Given the description of an element on the screen output the (x, y) to click on. 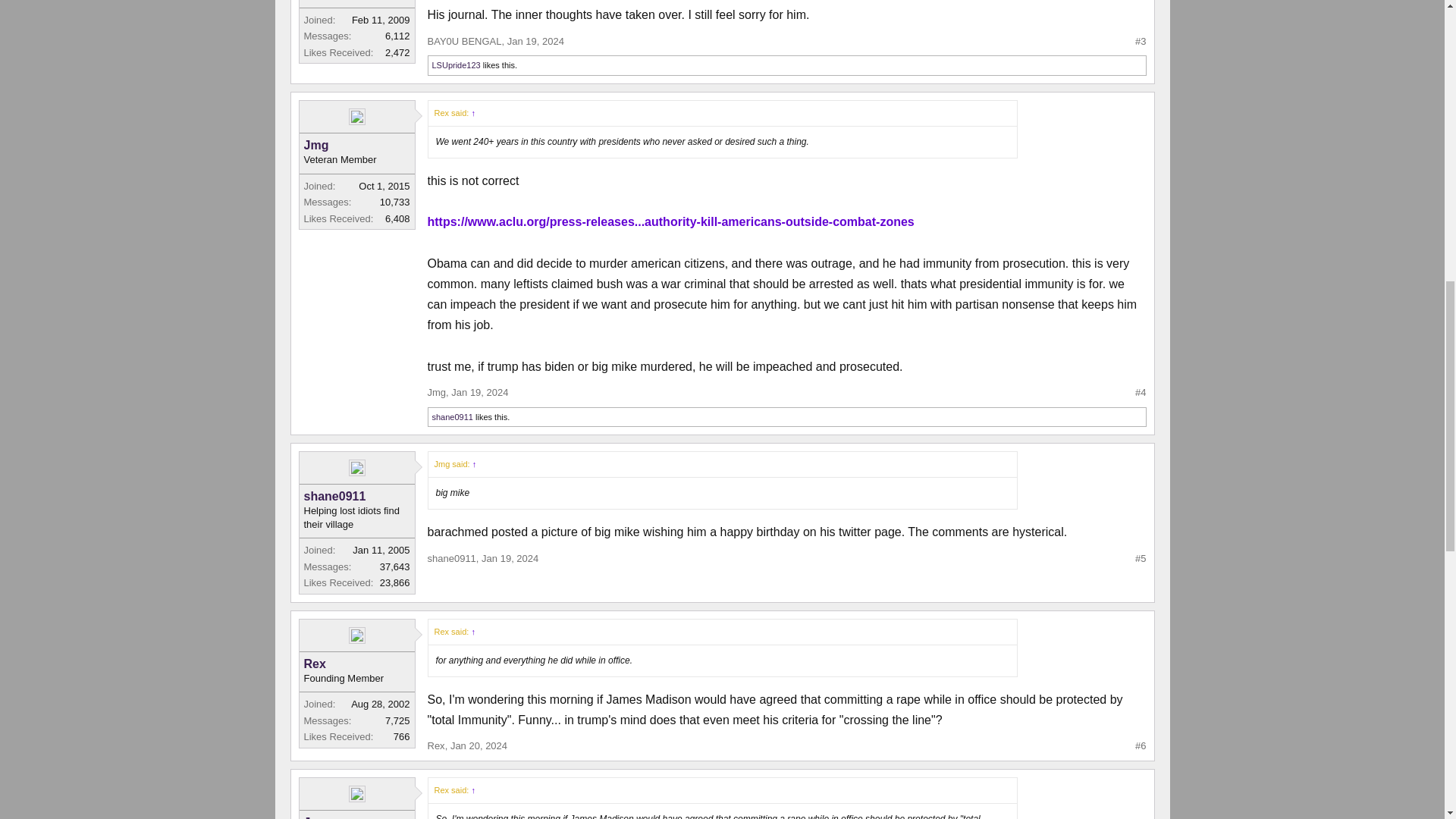
Jmg (437, 392)
BAY0U BENGAL (465, 41)
6,112 (397, 35)
Permalink (477, 745)
Jmg (355, 145)
10,733 (395, 202)
Permalink (535, 41)
Jan 19, 2024 (535, 41)
LSUpride123 (456, 64)
Permalink (479, 392)
Permalink (509, 558)
